Given the description of an element on the screen output the (x, y) to click on. 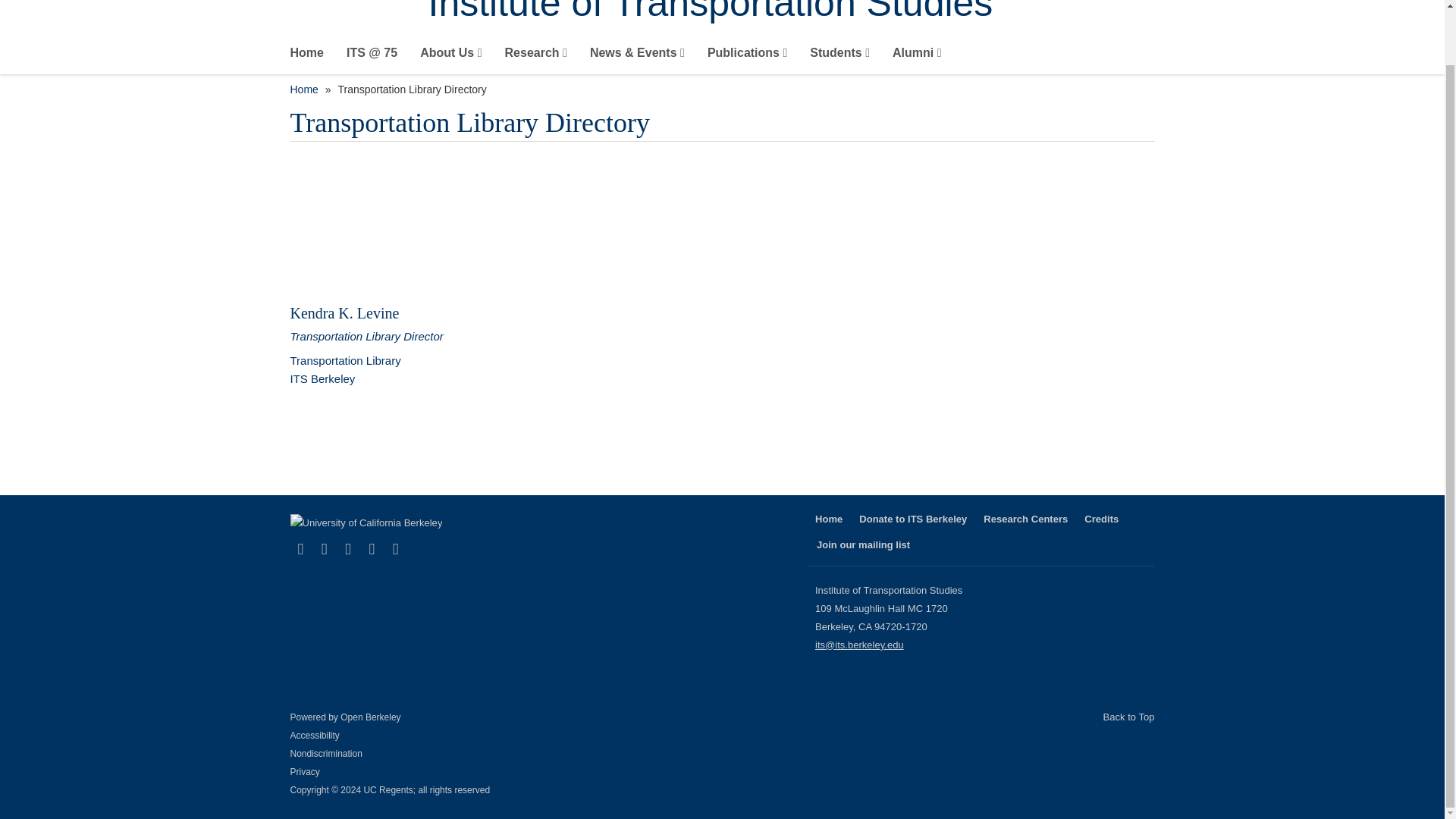
Institute of Transportation Studies (791, 13)
Home (306, 56)
Publications (747, 56)
Research (536, 56)
About Us (450, 56)
Home (791, 13)
Research (536, 56)
